Given the description of an element on the screen output the (x, y) to click on. 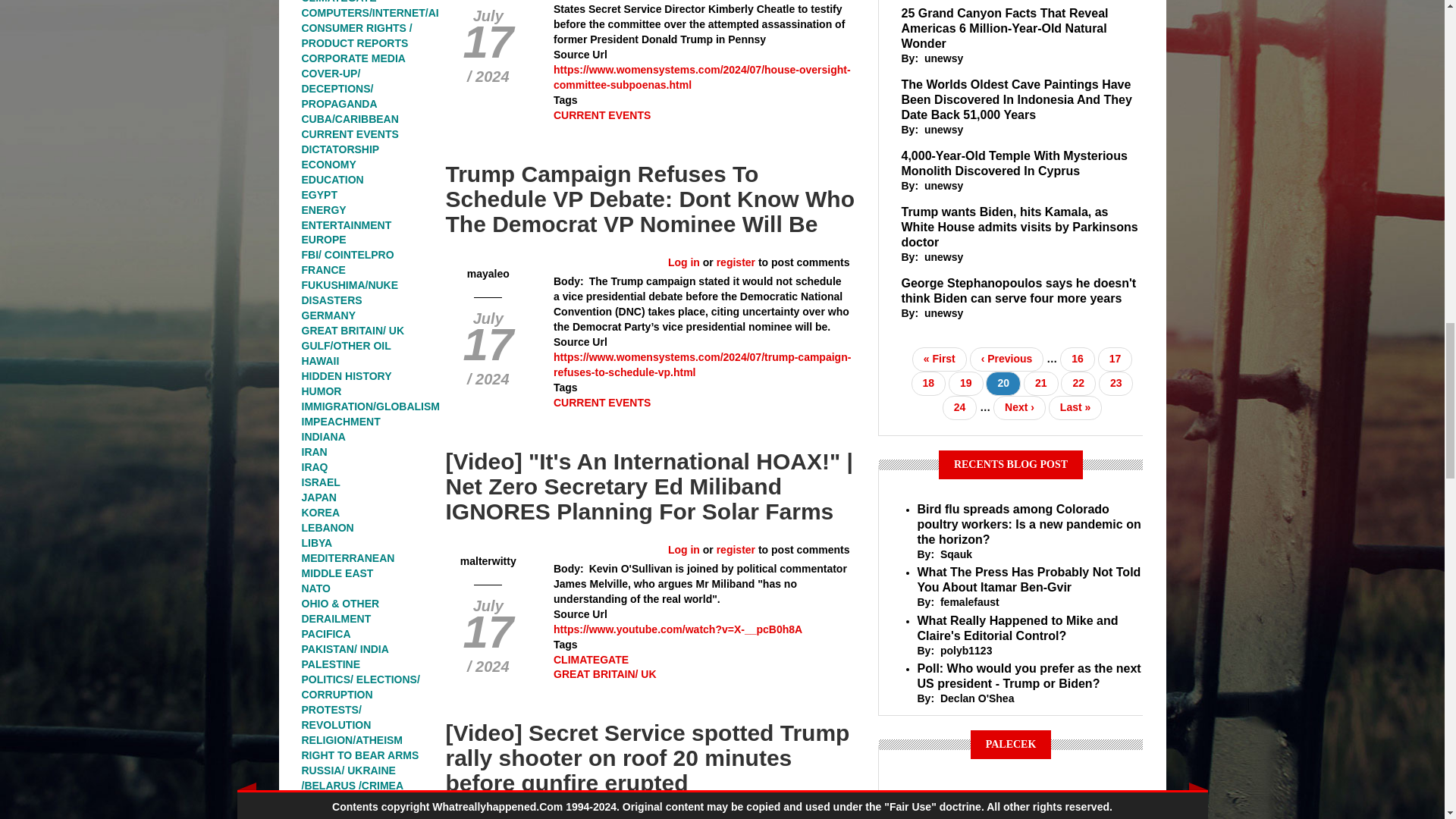
Go to first page (939, 359)
